Given the description of an element on the screen output the (x, y) to click on. 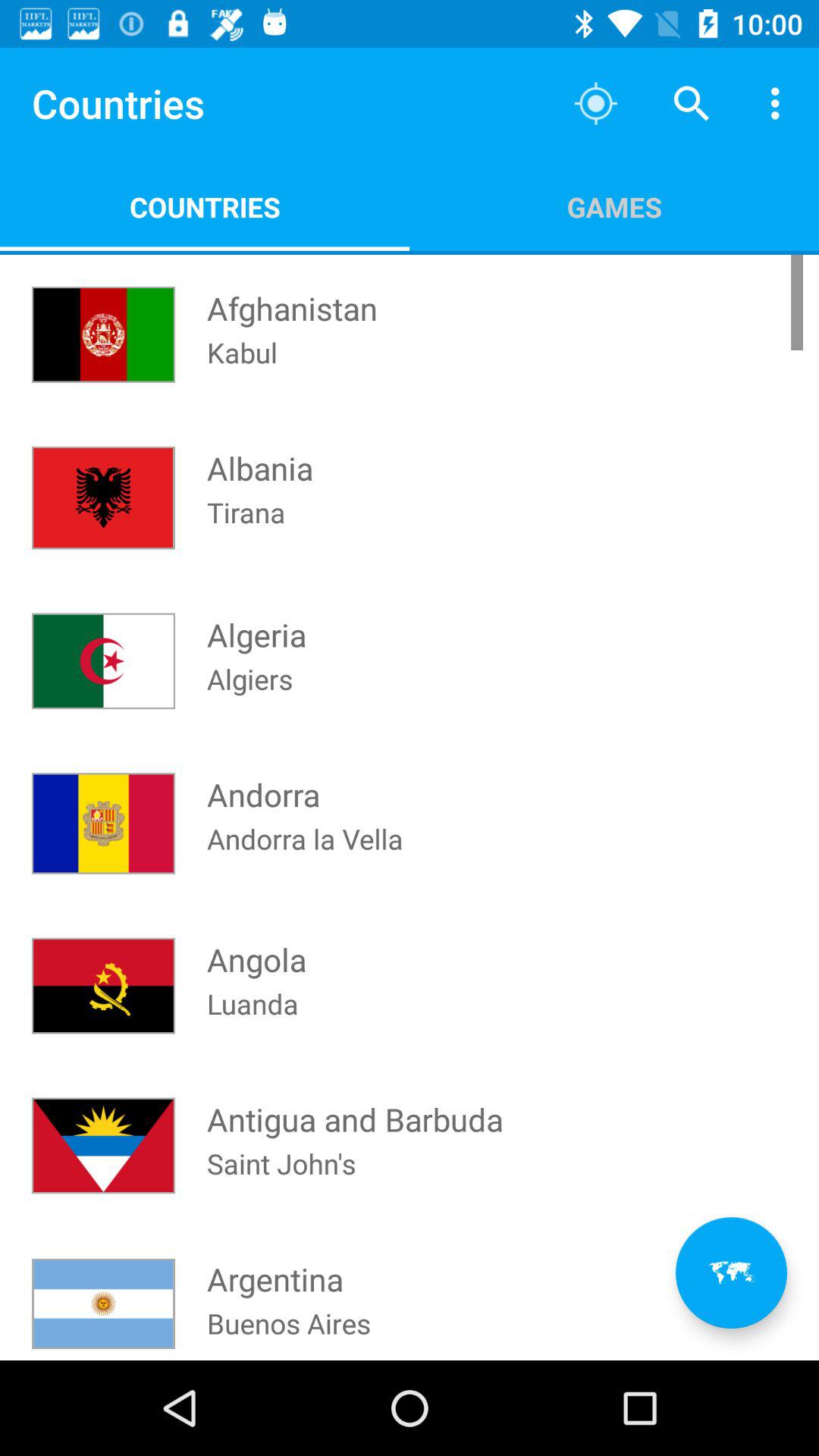
select item next to the games (292, 293)
